Given the description of an element on the screen output the (x, y) to click on. 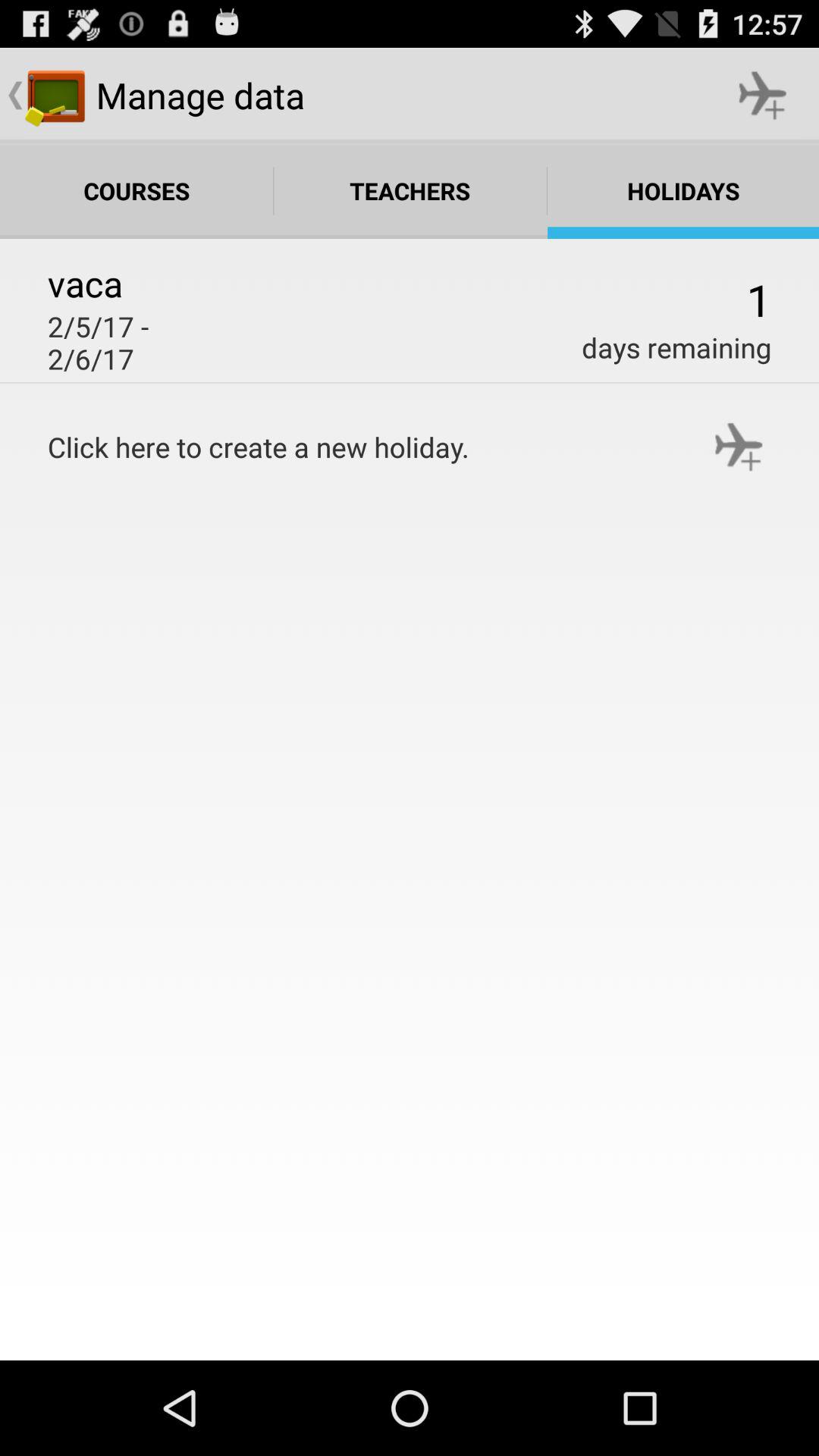
click the app above holidays (763, 95)
